Given the description of an element on the screen output the (x, y) to click on. 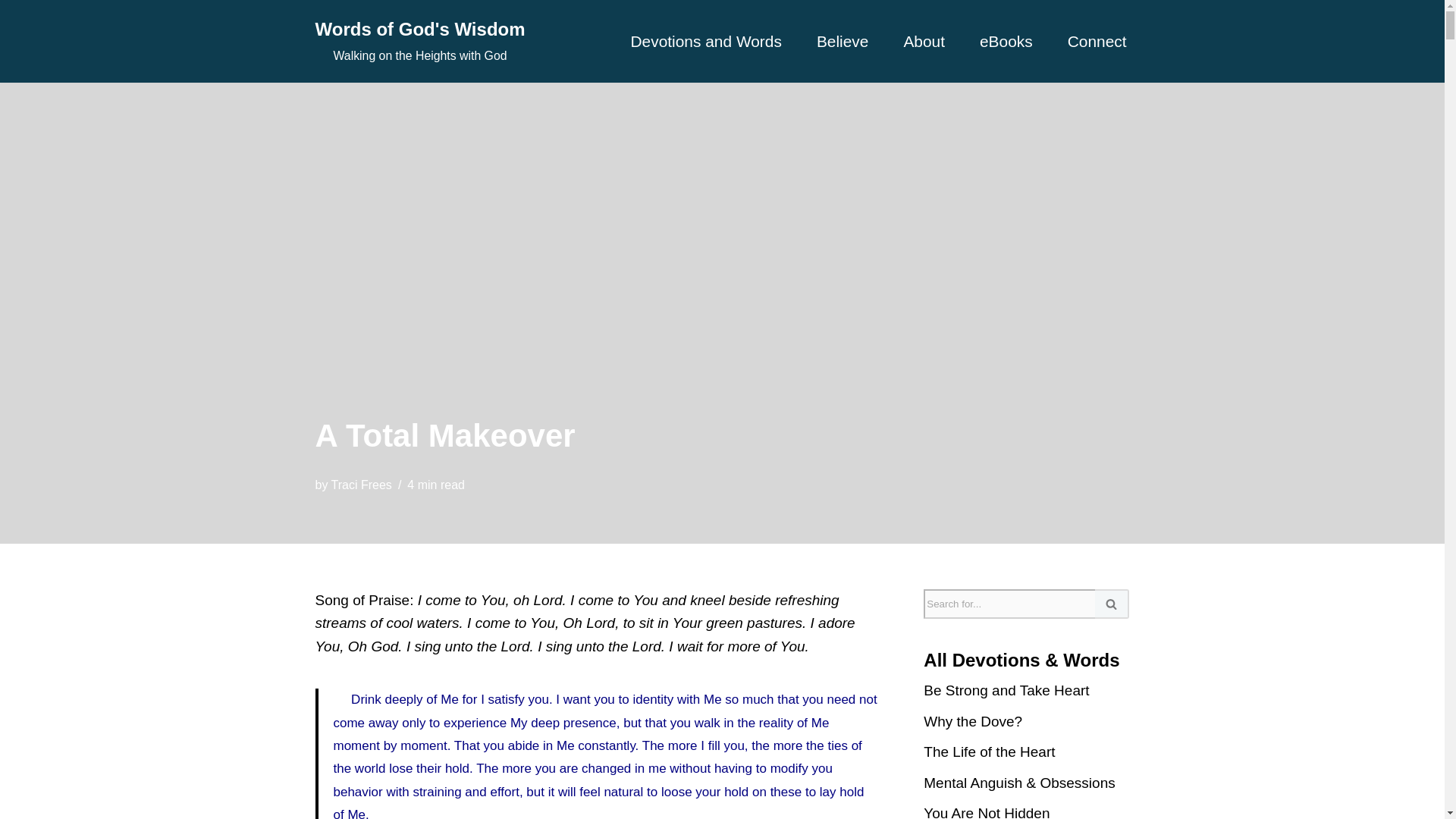
Traci Frees (361, 484)
You Are Not Hidden (986, 812)
Devotions and Words (705, 40)
Posts by Traci Frees (361, 484)
Skip to content (11, 31)
Be Strong and Take Heart (1006, 690)
Believe (420, 41)
eBooks (842, 40)
The Life of the Heart (1005, 40)
